Given the description of an element on the screen output the (x, y) to click on. 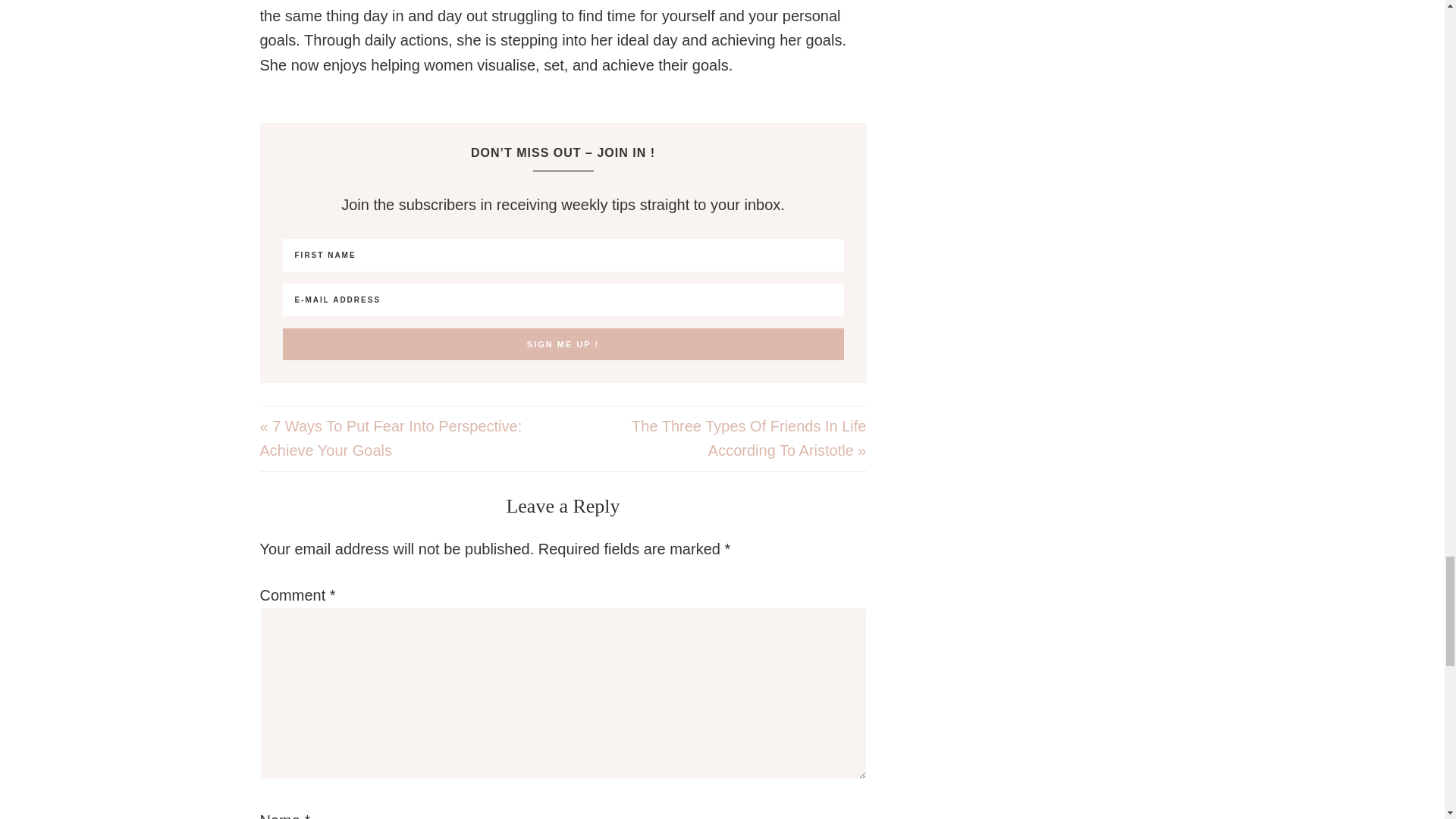
Sign Me Up ! (562, 344)
Sign Me Up ! (562, 344)
